Given the description of an element on the screen output the (x, y) to click on. 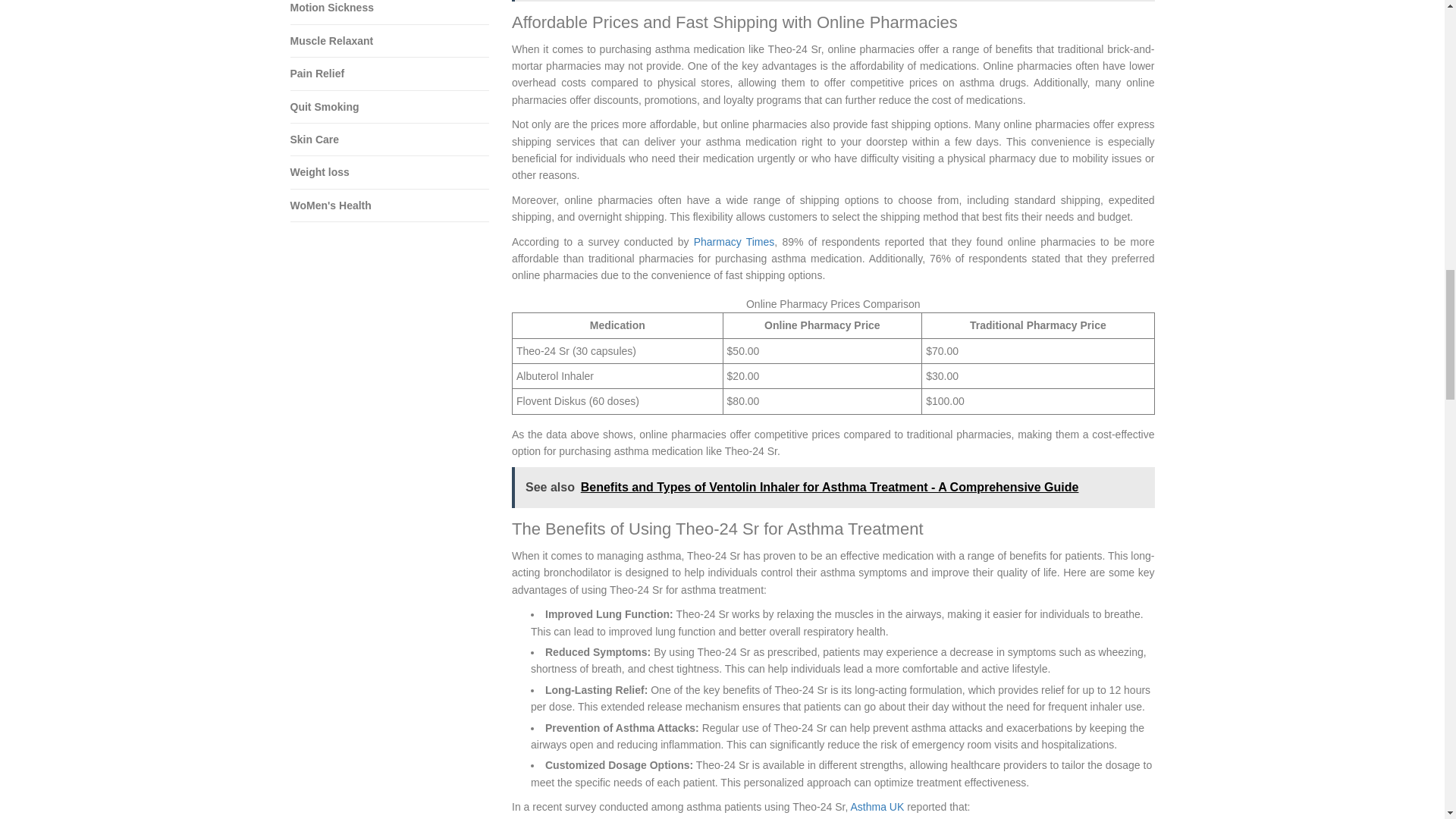
Pharmacy Times (734, 241)
Asthma UK (877, 806)
